Given the description of an element on the screen output the (x, y) to click on. 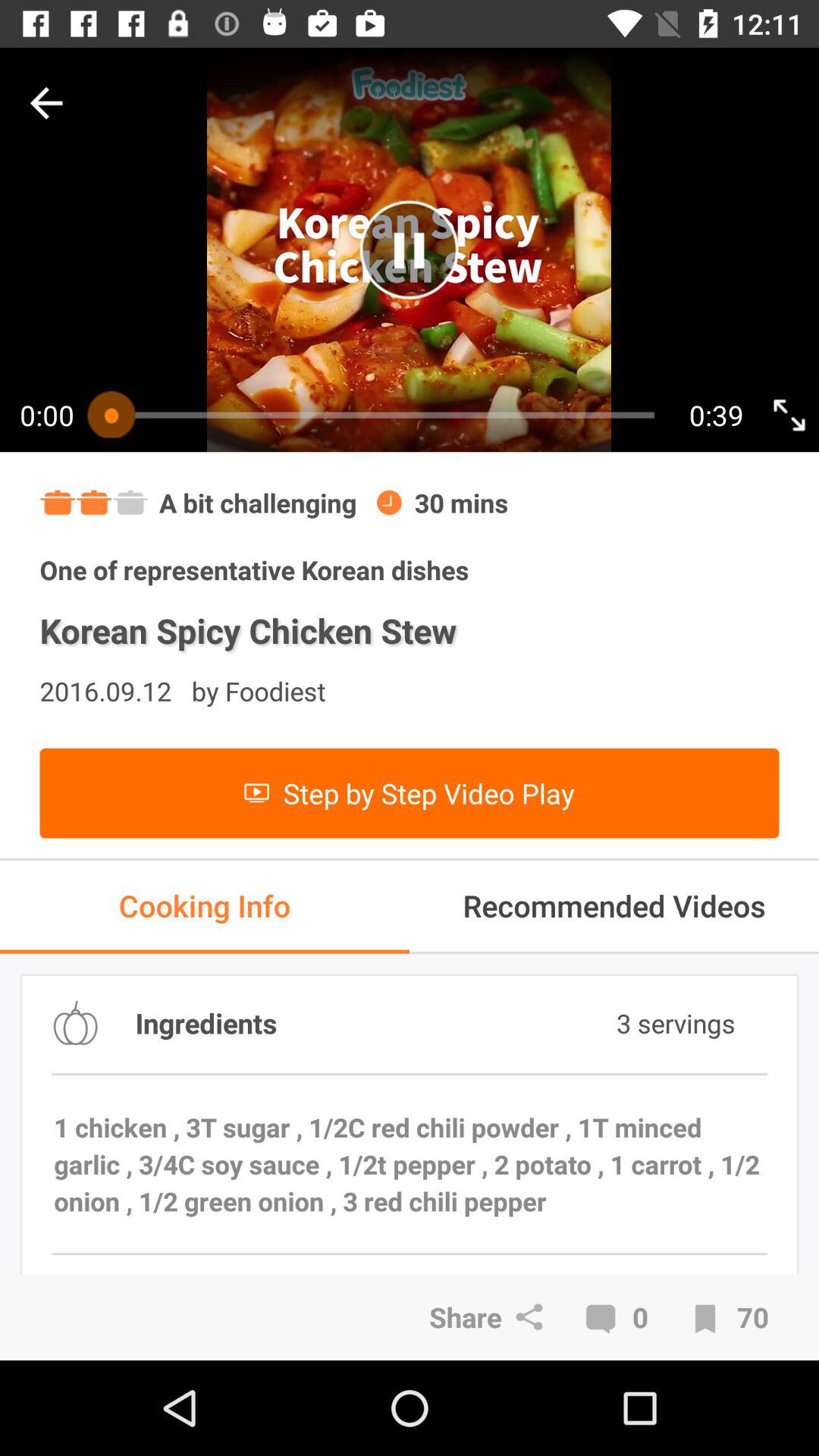
pause the video (408, 249)
